Given the description of an element on the screen output the (x, y) to click on. 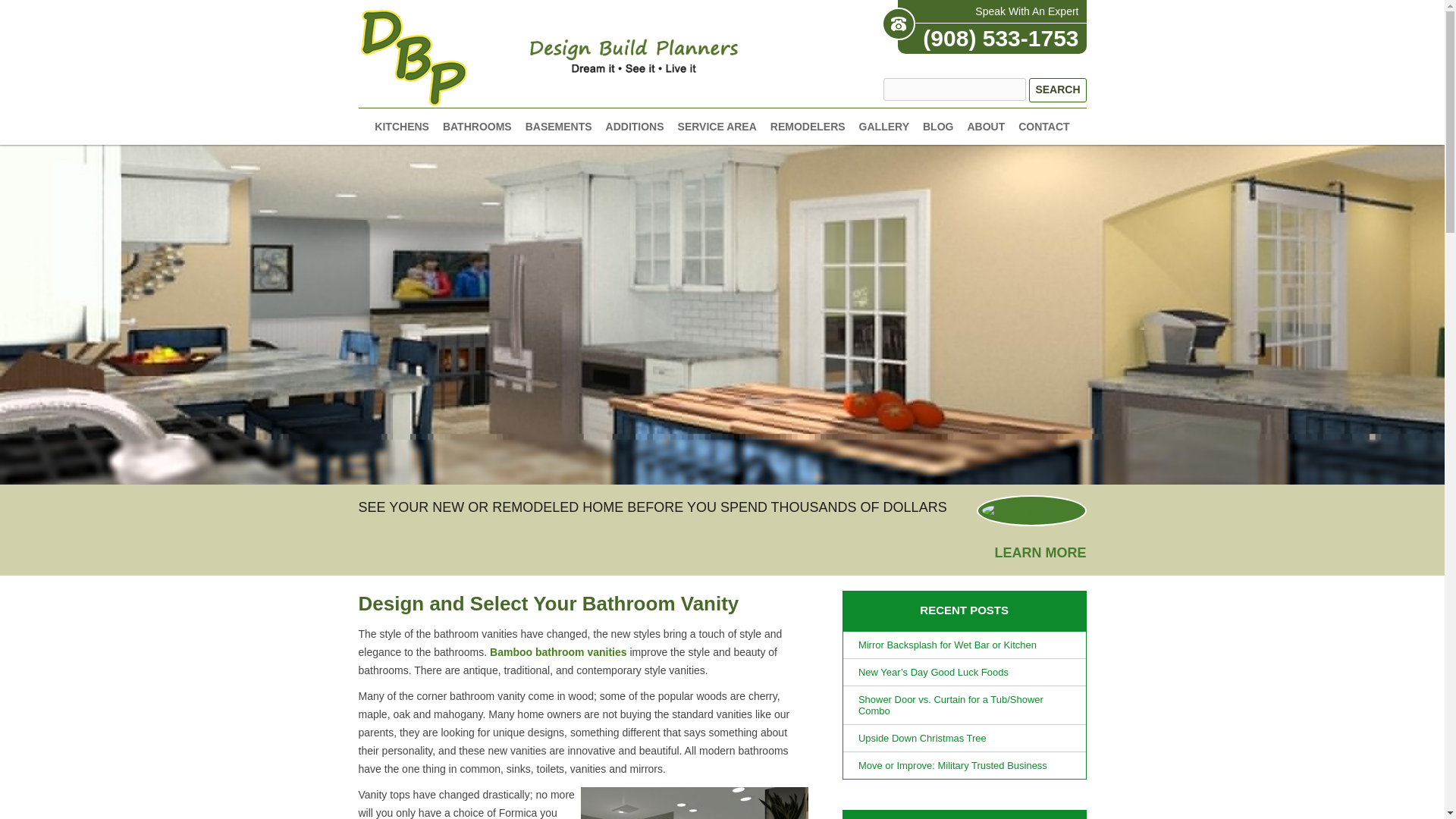
ABOUT (985, 126)
REMODELERS (807, 126)
GALLERY (883, 126)
ADDITIONS (634, 126)
BATHROOMS (477, 126)
CONTACT (1042, 126)
Search (1057, 89)
KITCHENS (401, 126)
Search (1057, 89)
BASEMENTS (558, 126)
